Given the description of an element on the screen output the (x, y) to click on. 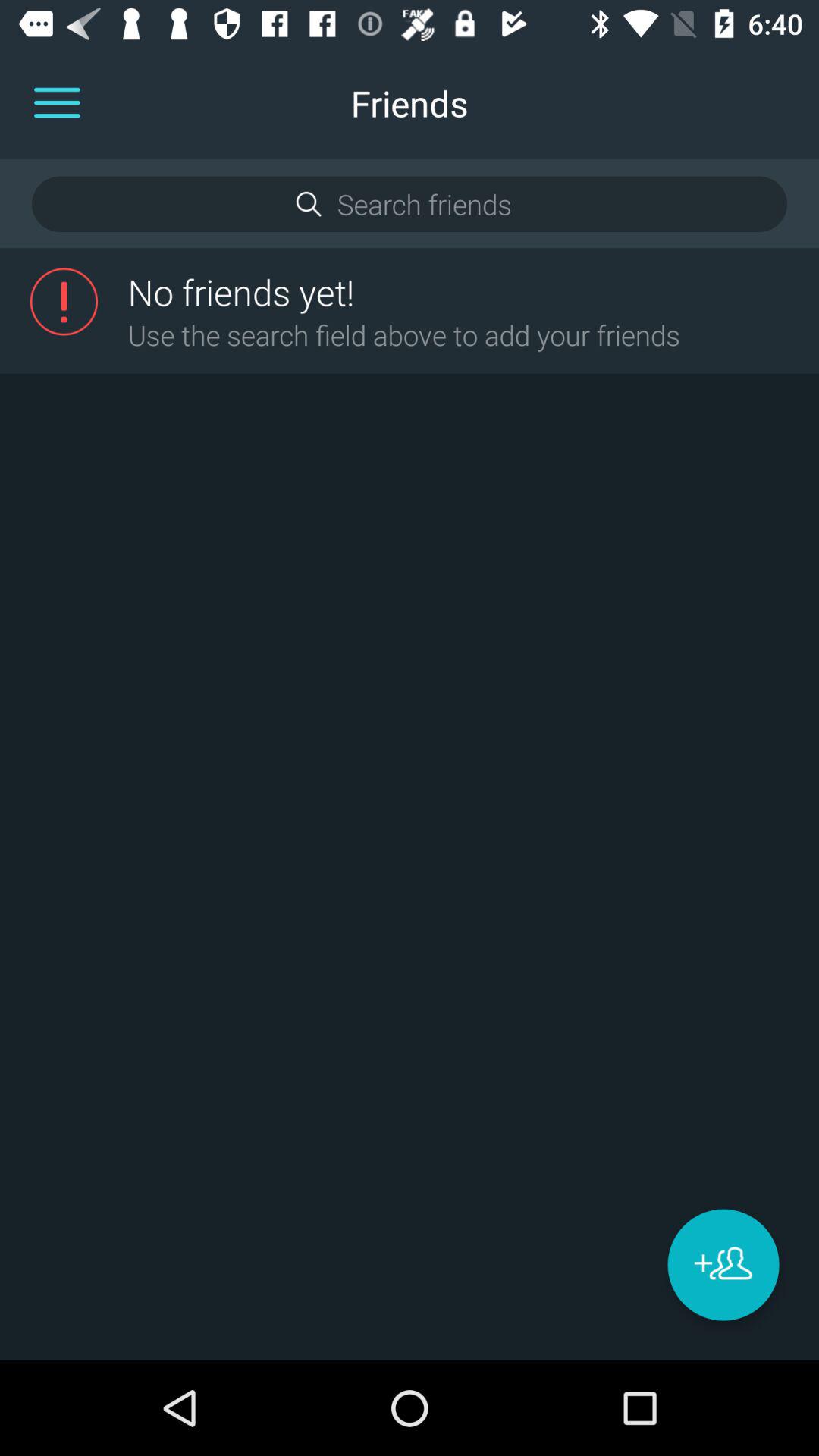
options button (57, 103)
